Given the description of an element on the screen output the (x, y) to click on. 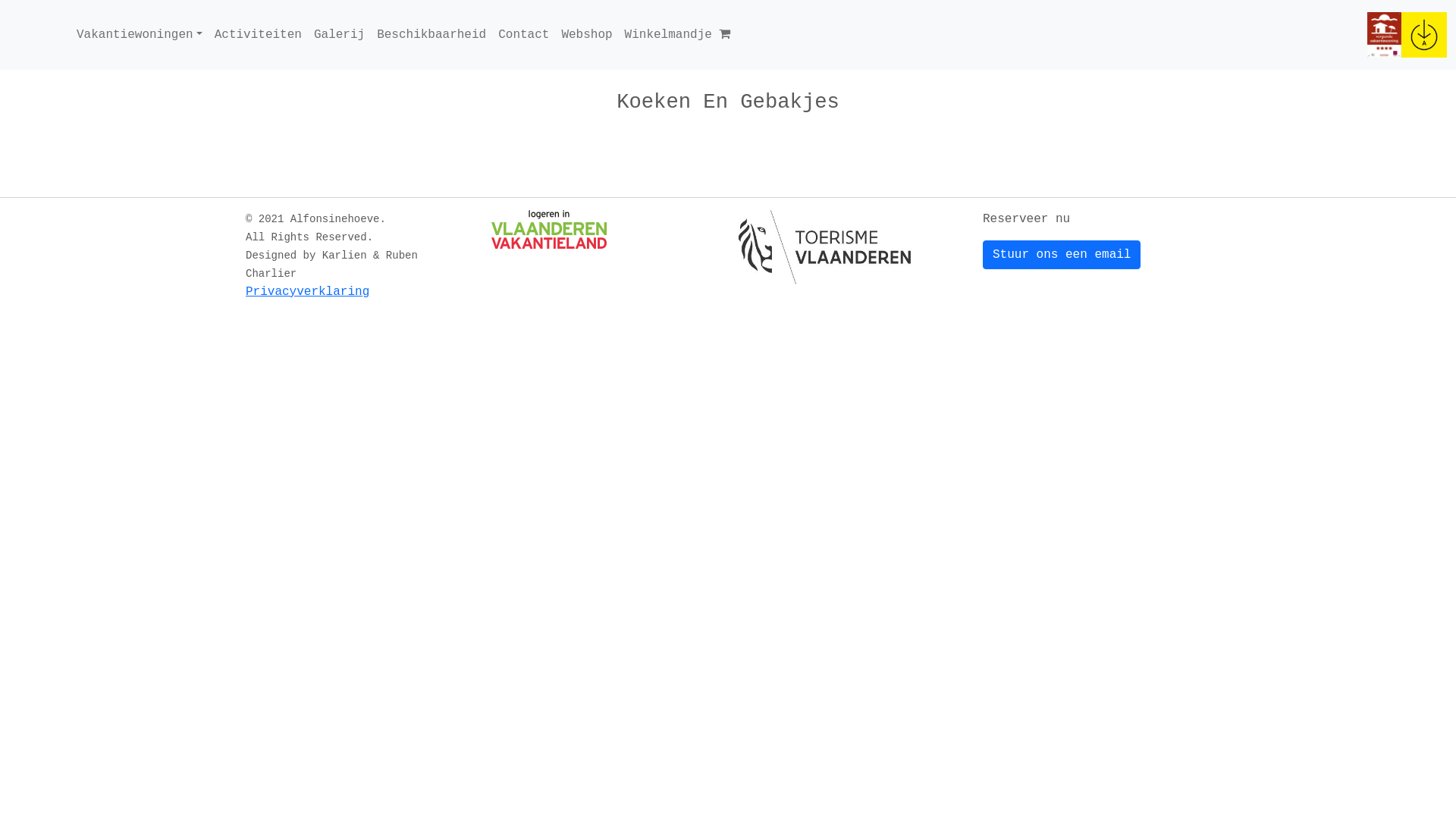
A label Element type: hover (1423, 34)
Vergunde vakantiewoning Element type: hover (1384, 34)
Beschikbaarheid Element type: text (431, 34)
Activiteiten Element type: text (257, 34)
Vakantiewoningen Element type: text (139, 34)
Stuur ons een email Element type: text (1061, 254)
Galerij Element type: text (338, 34)
Winkelmandje Element type: text (677, 34)
Webshop Element type: text (586, 34)
Privacyverklaring Element type: text (307, 291)
Contact Element type: text (523, 34)
